Given the description of an element on the screen output the (x, y) to click on. 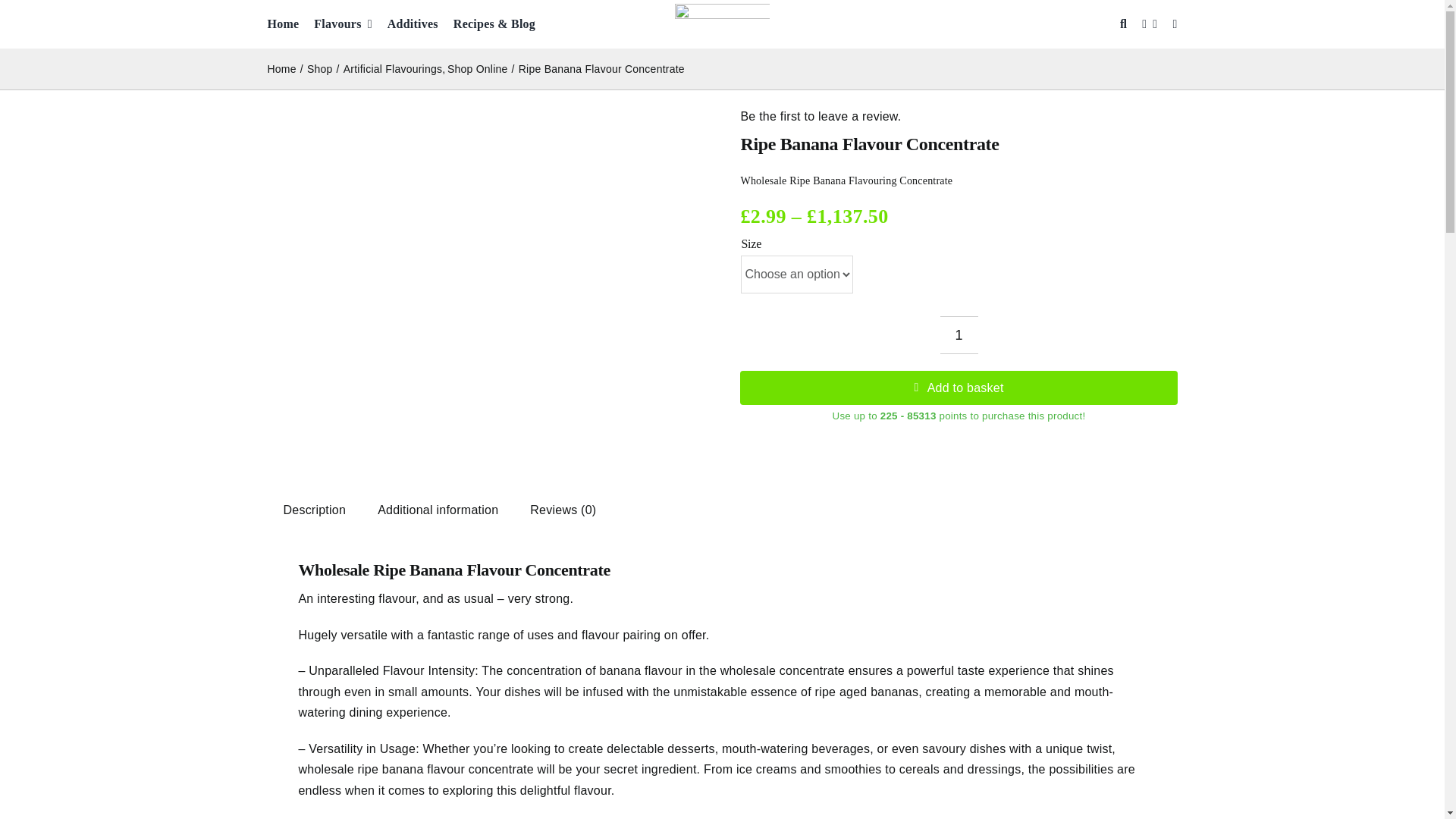
1 (959, 334)
Log In (1304, 183)
TFS-Logo-White-Stacked-green (722, 24)
Flavours (342, 24)
Additives (412, 24)
